Given the description of an element on the screen output the (x, y) to click on. 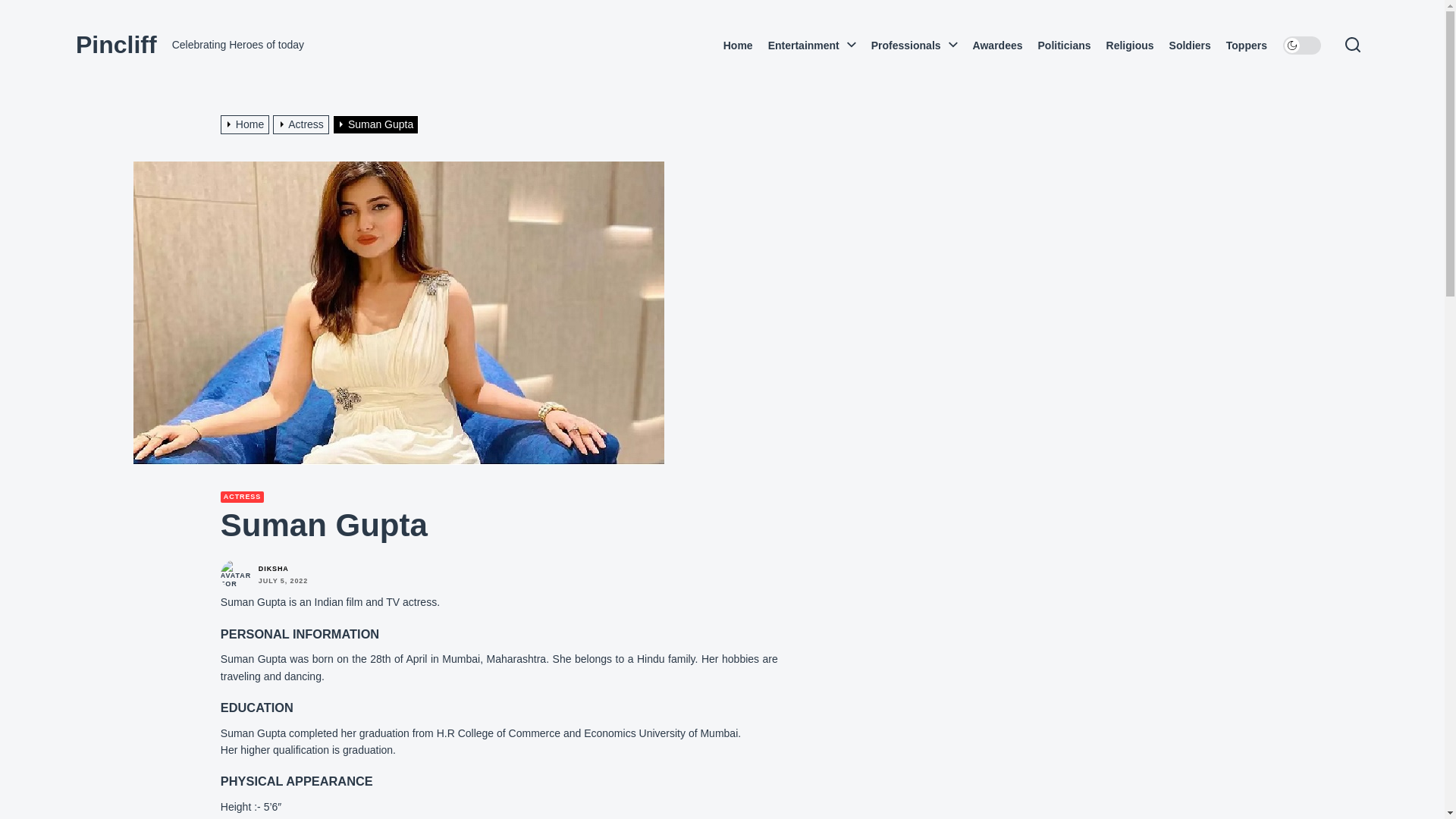
ACTRESS (242, 496)
Entertainment (807, 45)
DIKSHA (273, 569)
Religious (1130, 45)
Toppers (1245, 45)
Soldiers (1190, 45)
Pincliff (116, 44)
Actress (303, 123)
Suman Gupta (377, 123)
Professionals (909, 45)
Home (247, 123)
Home (737, 45)
Awardees (997, 45)
JULY 5, 2022 (283, 581)
Politicians (1063, 45)
